Given the description of an element on the screen output the (x, y) to click on. 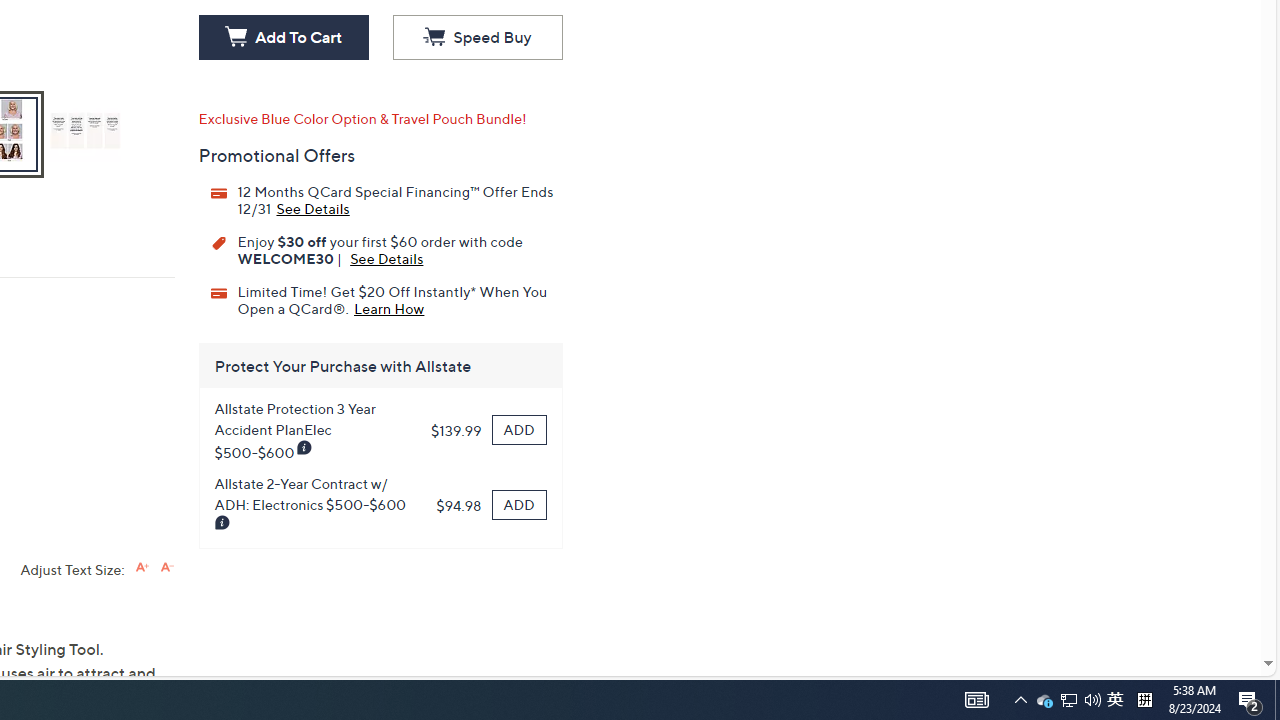
Learn How (389, 307)
See Details (386, 258)
Add To Cart (283, 38)
Class: infoIcon fancybox fancybox.ajax (222, 523)
Increase font size (141, 566)
Speed Buy (477, 38)
Decrease font size (166, 566)
12 Months QCard Special Financing Offer Ends 12/31 (312, 207)
